Given the description of an element on the screen output the (x, y) to click on. 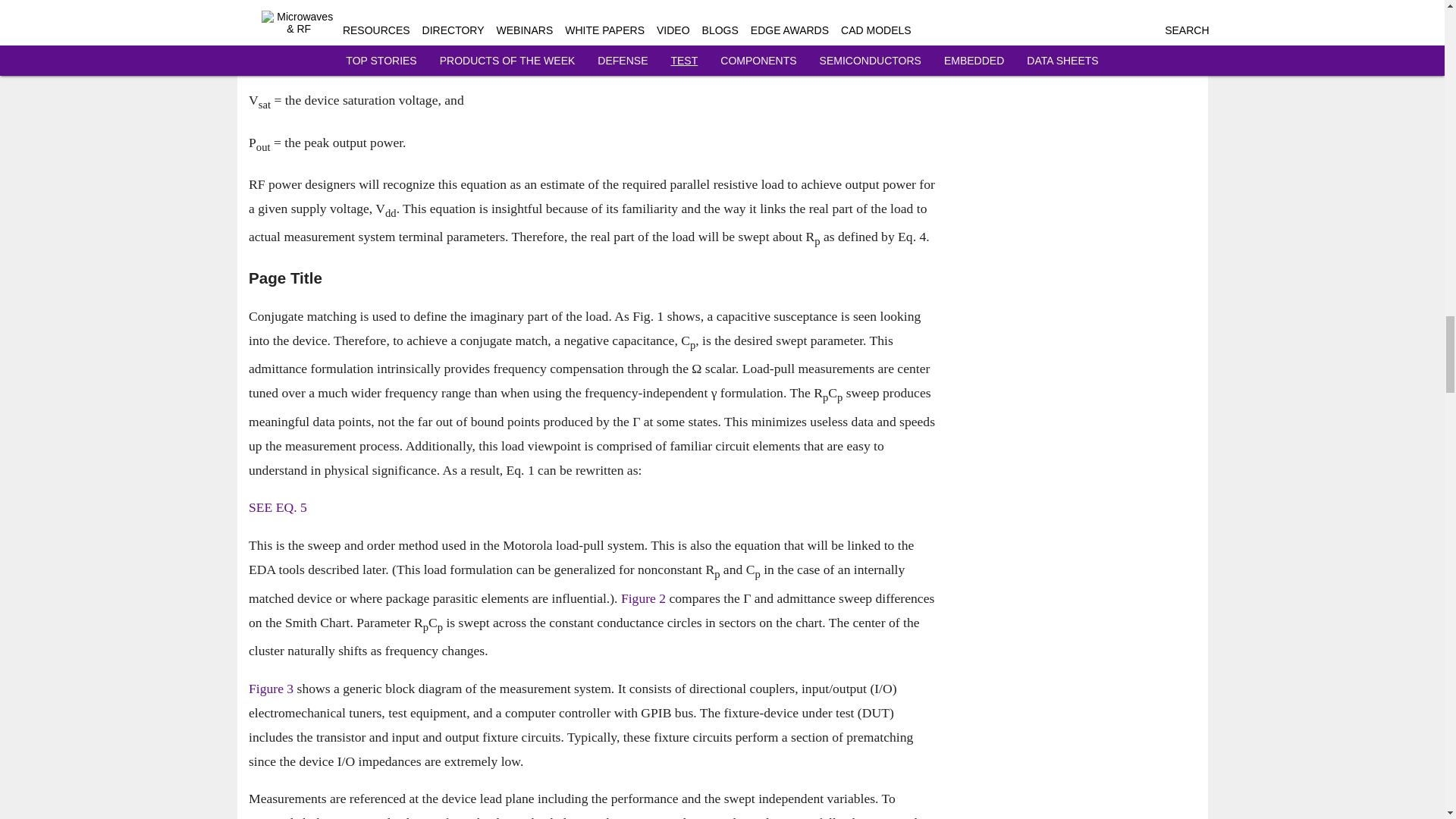
SEE EQ. 5 (277, 507)
Figure 2 (642, 598)
Figure 3 (271, 688)
